Given the description of an element on the screen output the (x, y) to click on. 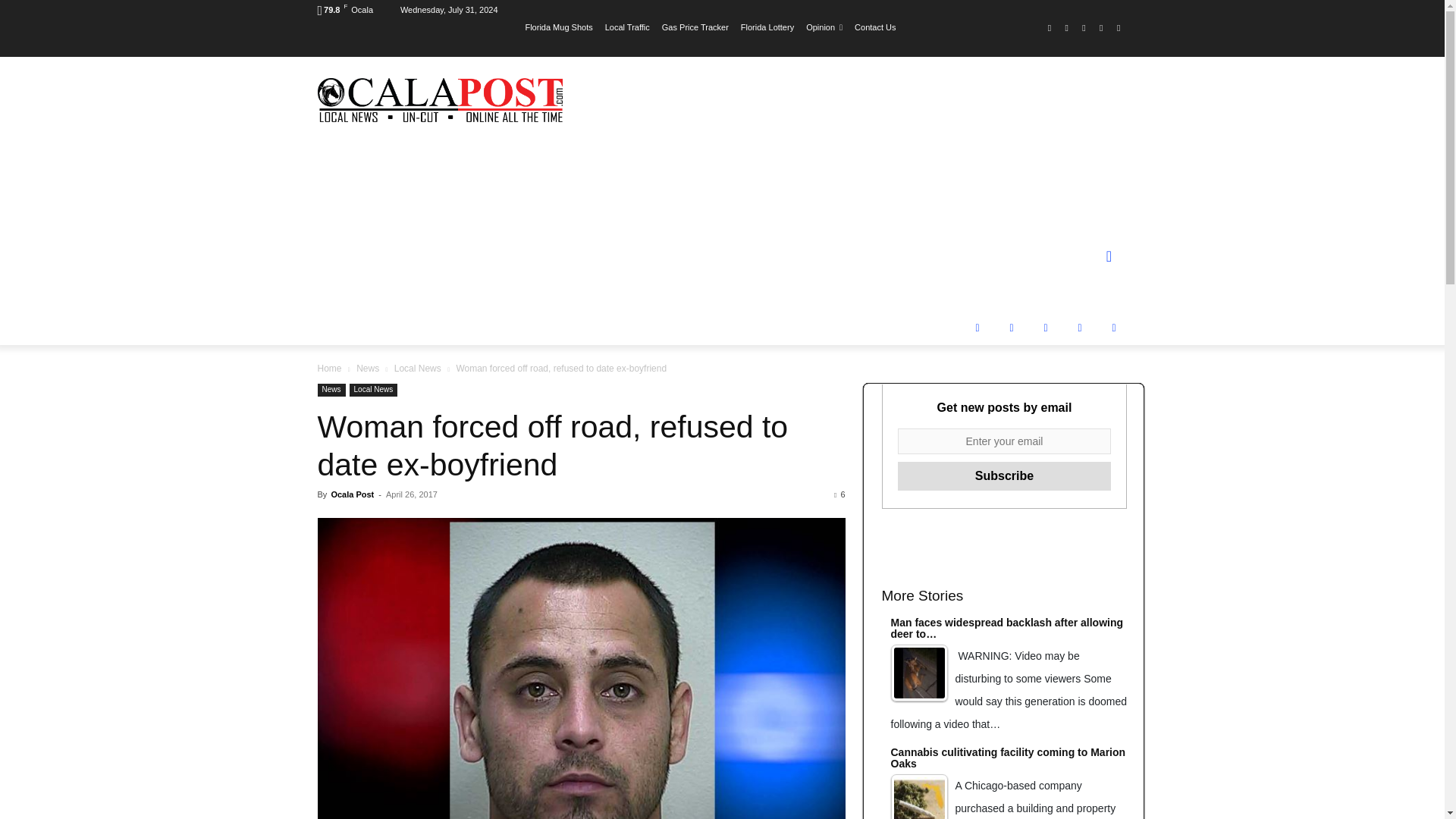
Facebook (1049, 27)
Florida Mug Shots (558, 27)
Gas Price Tracker (695, 27)
Instagram (1066, 27)
Local Traffic (627, 27)
Tumblr (1084, 27)
Subscribe (1005, 475)
